Given the description of an element on the screen output the (x, y) to click on. 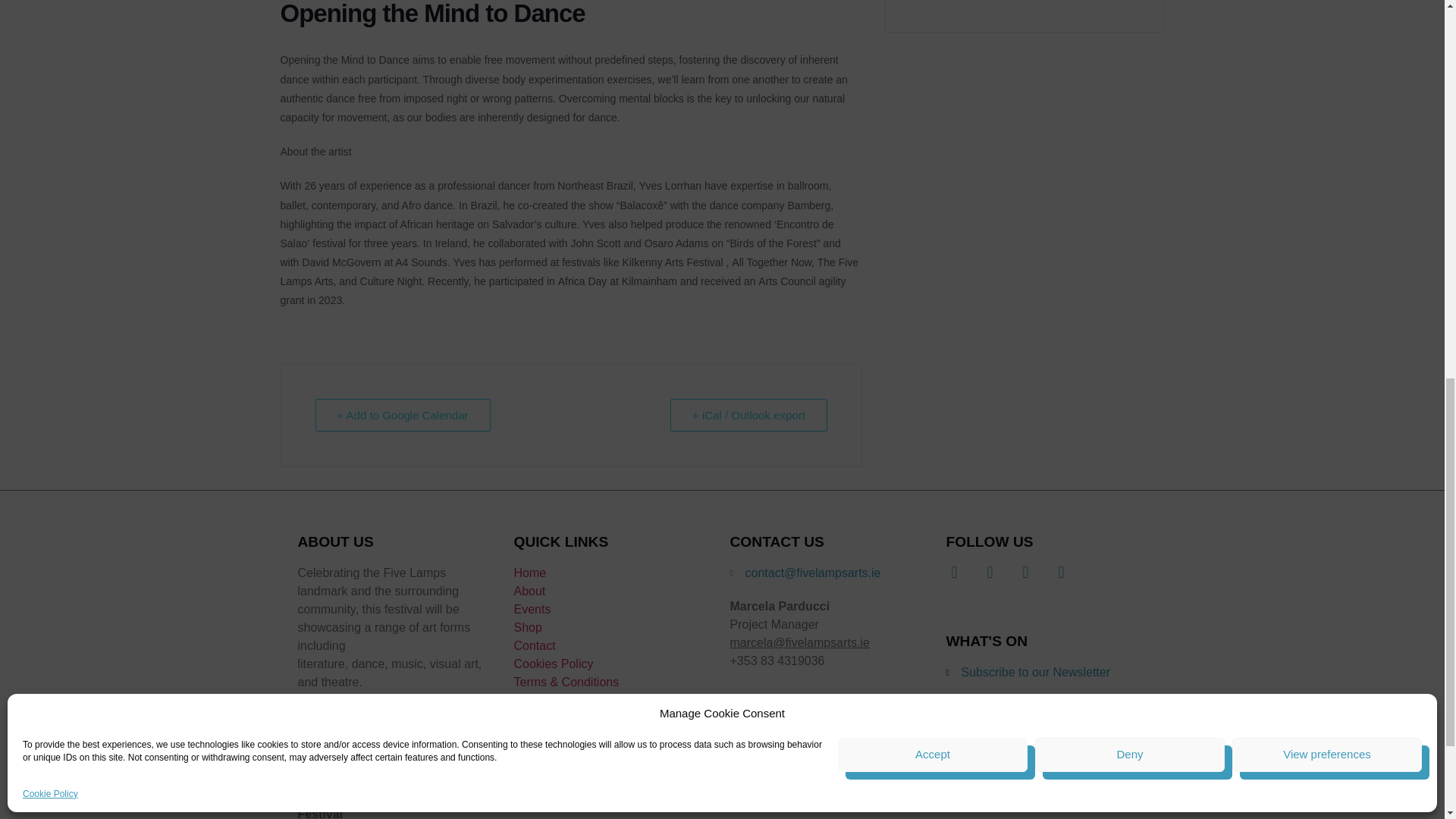
Accept (932, 344)
Deny (1129, 344)
Cookie Policy (50, 383)
View preferences (1326, 344)
